Given the description of an element on the screen output the (x, y) to click on. 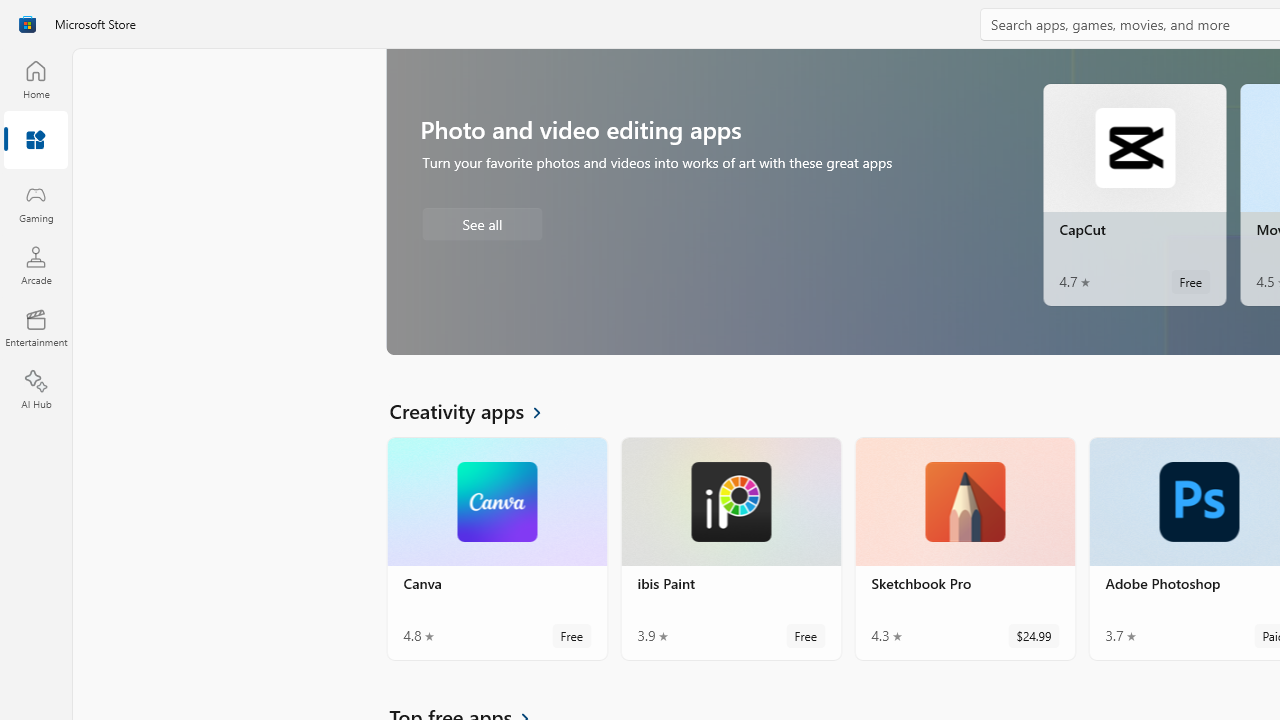
ibis Paint. Average rating of 3.9 out of five stars. Free   (730, 548)
CapCut. Average rating of 4.7 out of five stars. Free   (1134, 194)
Gaming (35, 203)
Arcade (35, 265)
Apps (35, 141)
AI Hub (35, 390)
Entertainment (35, 327)
Home (35, 79)
See all  Photo and video editing apps (481, 223)
Class: Image (27, 24)
Canva. Average rating of 4.8 out of five stars. Free   (497, 548)
See all  Creativity apps (477, 410)
